Given the description of an element on the screen output the (x, y) to click on. 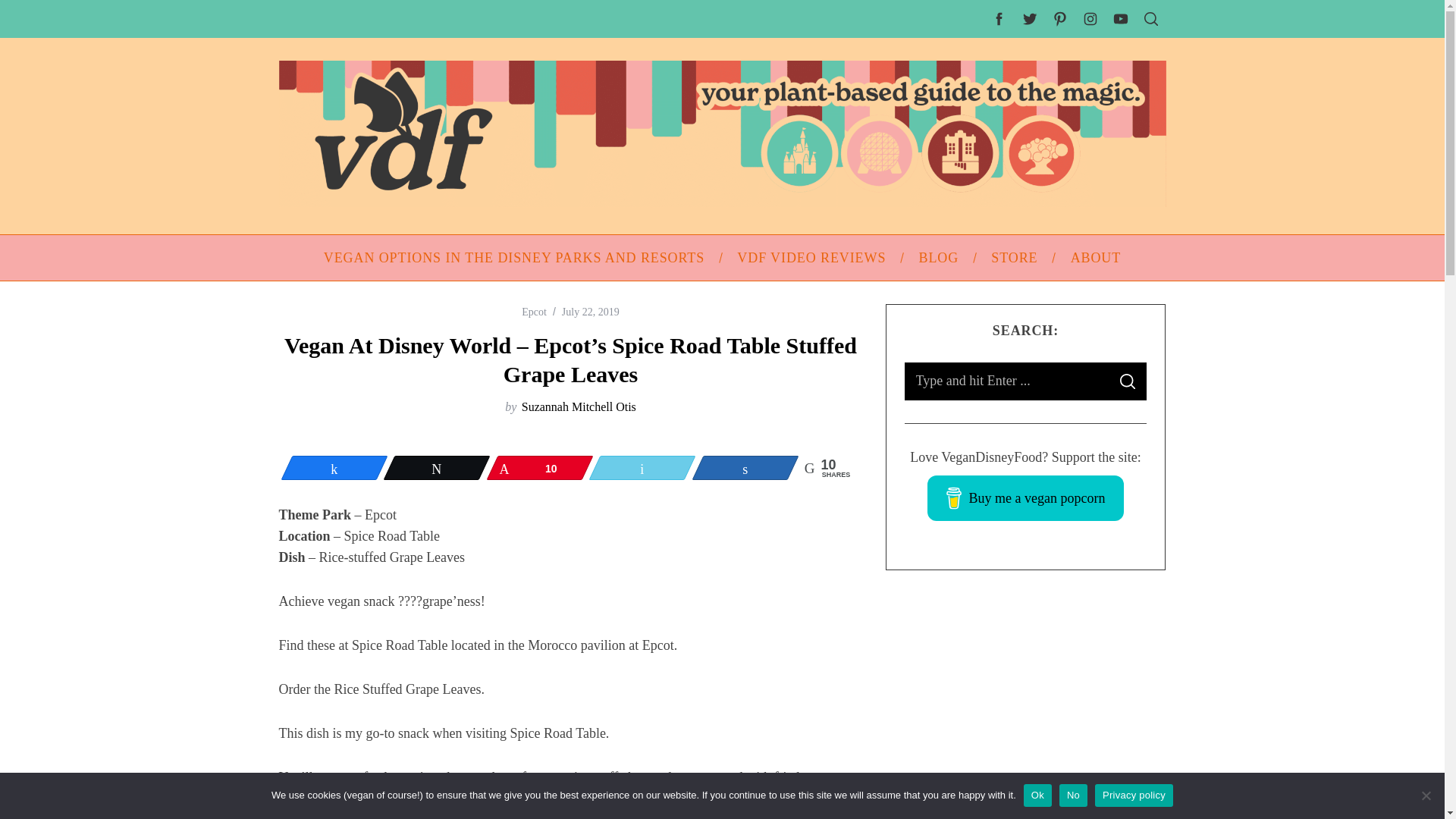
10 (539, 467)
VDF VIDEO REVIEWS (811, 257)
Suzannah Mitchell Otis (578, 406)
ABOUT (1095, 257)
Epcot (534, 311)
No (1425, 795)
STORE (1014, 257)
BLOG (938, 257)
